Given the description of an element on the screen output the (x, y) to click on. 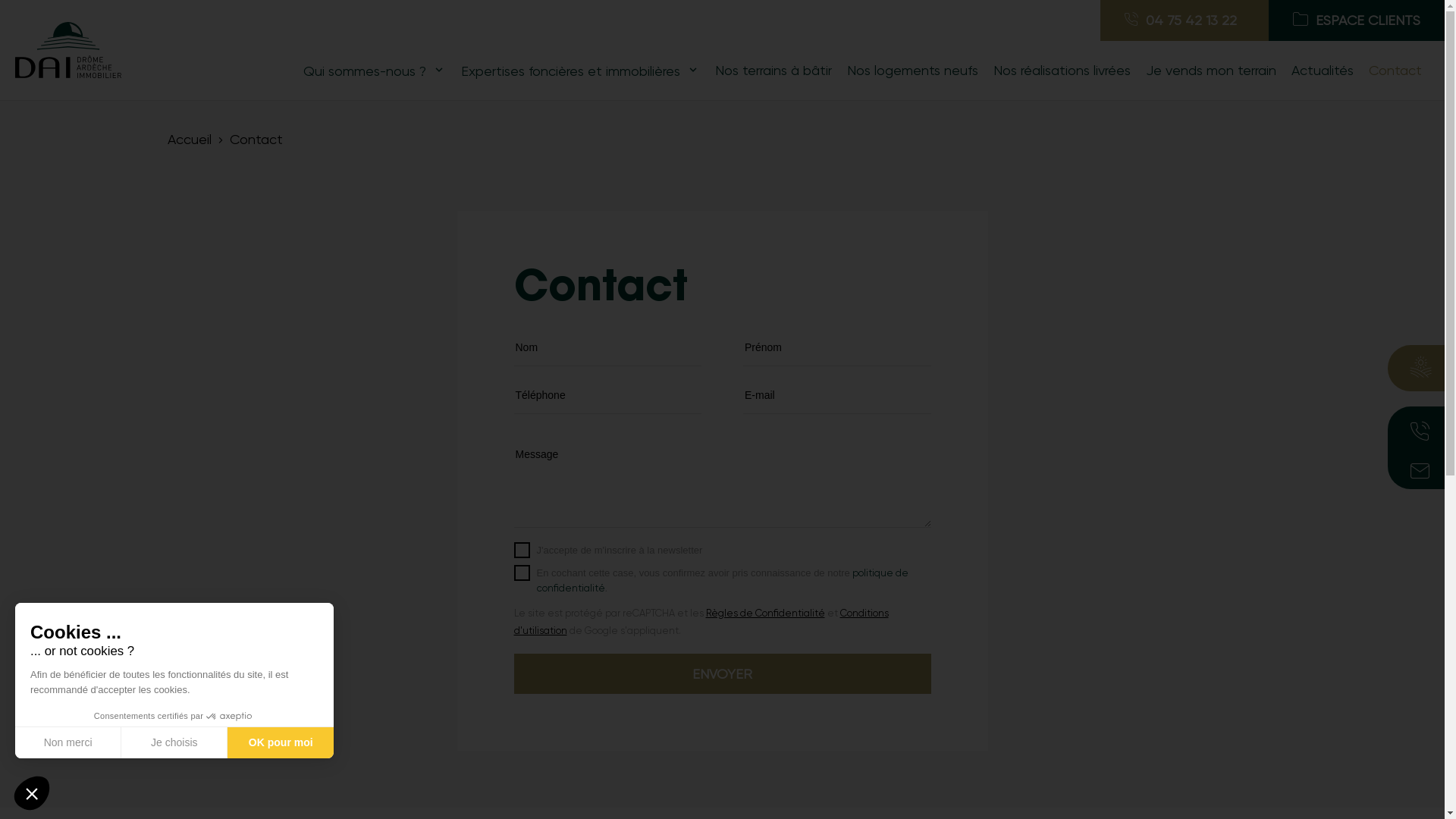
ESPACE CLIENTS Element type: text (1356, 20)
ENVOYER Element type: text (722, 673)
Je vends mon terrain Element type: text (1210, 70)
Qui sommes-nous ? Element type: text (374, 70)
04 75 42 13 22 Element type: text (1184, 20)
Accueil Element type: text (188, 139)
Conditions d'utilisation Element type: text (701, 621)
Nos logements neufs Element type: text (912, 70)
Accueil DAImmo Element type: hover (68, 48)
Contact Element type: text (1395, 70)
